Given the description of an element on the screen output the (x, y) to click on. 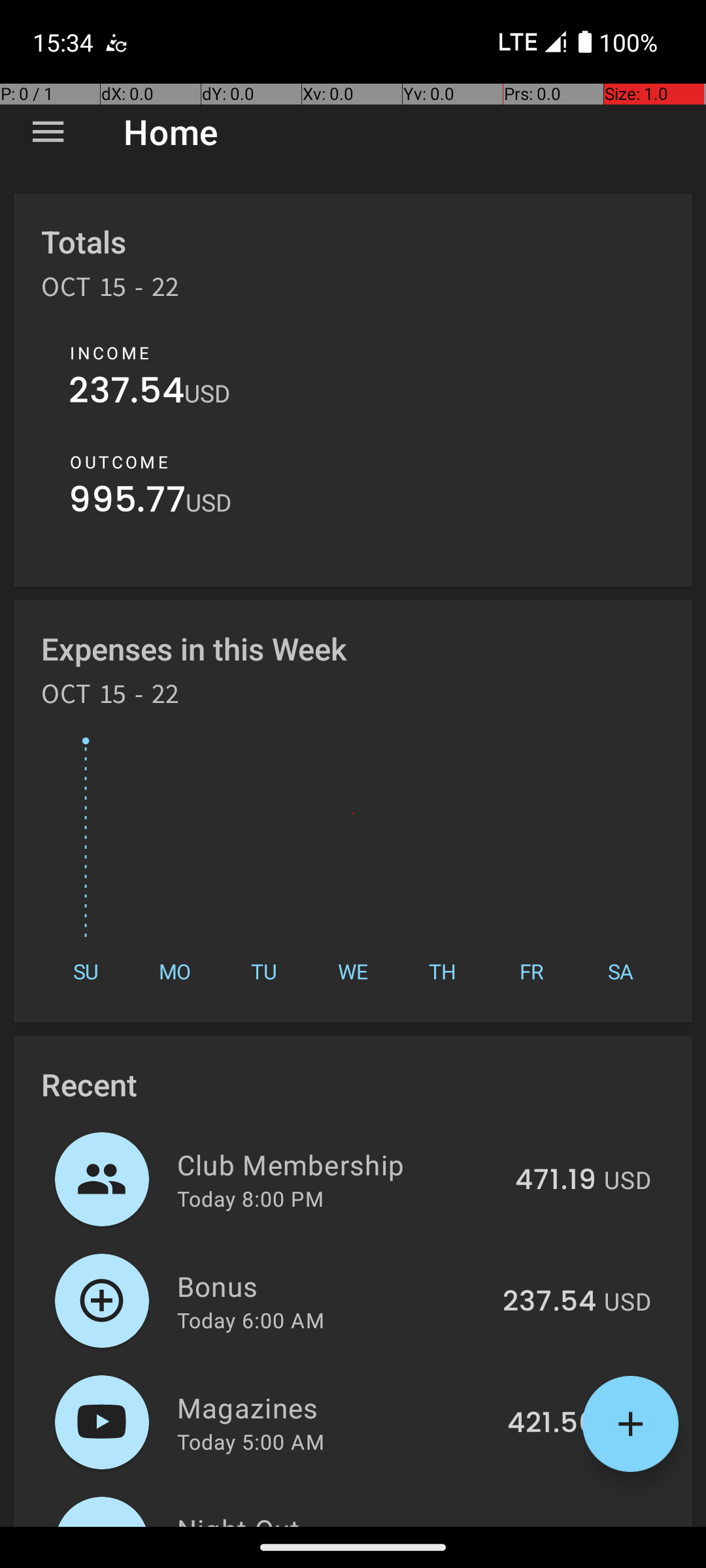
237.54 Element type: android.widget.TextView (126, 393)
995.77 Element type: android.widget.TextView (126, 502)
Club Membership Element type: android.widget.TextView (338, 1164)
471.19 Element type: android.widget.TextView (555, 1180)
Bonus Element type: android.widget.TextView (332, 1285)
Today 6:00 AM Element type: android.widget.TextView (250, 1320)
Magazines Element type: android.widget.TextView (334, 1407)
Today 5:00 AM Element type: android.widget.TextView (250, 1441)
421.56 Element type: android.widget.TextView (551, 1423)
Night Out Element type: android.widget.TextView (335, 1518)
103.02 Element type: android.widget.TextView (551, 1524)
